Given the description of an element on the screen output the (x, y) to click on. 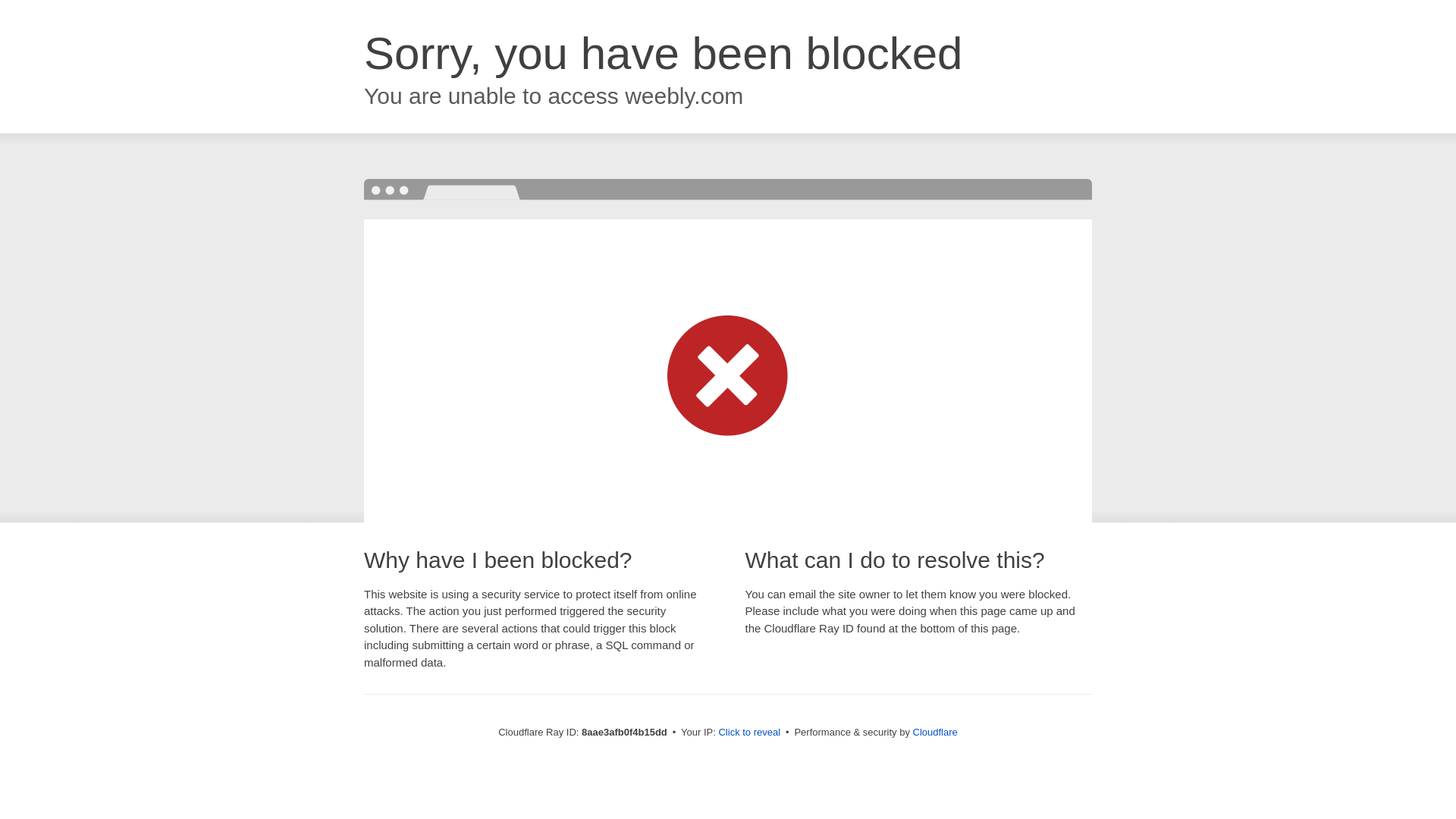
Cloudflare (935, 731)
Click to reveal (748, 732)
